Given the description of an element on the screen output the (x, y) to click on. 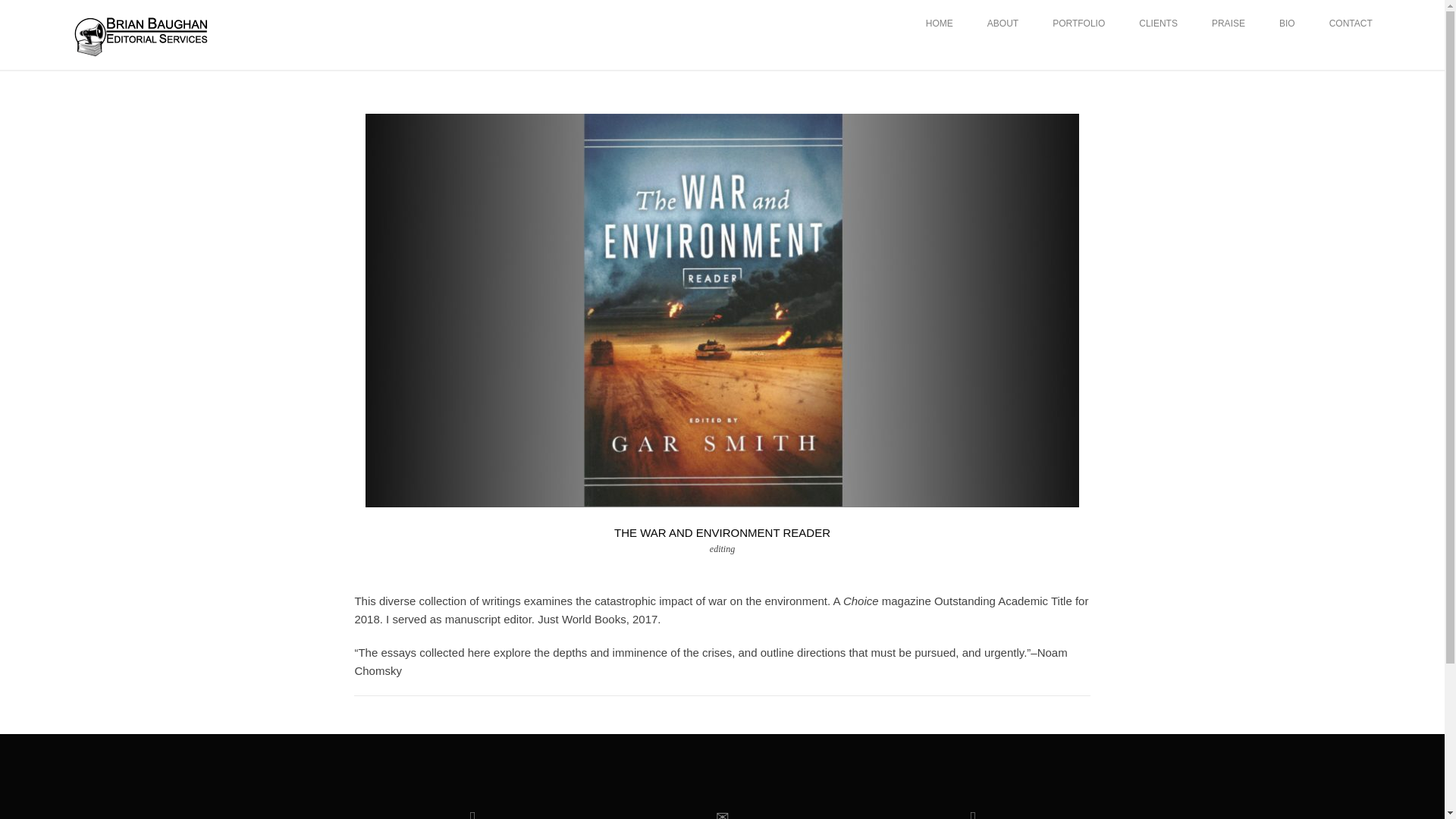
HOME (939, 23)
BIO (1287, 23)
CONTACT (1351, 23)
CLIENTS (1157, 23)
PORTFOLIO (1078, 23)
PRAISE (1227, 23)
ABOUT (1002, 23)
Brian Baughan (140, 33)
